Given the description of an element on the screen output the (x, y) to click on. 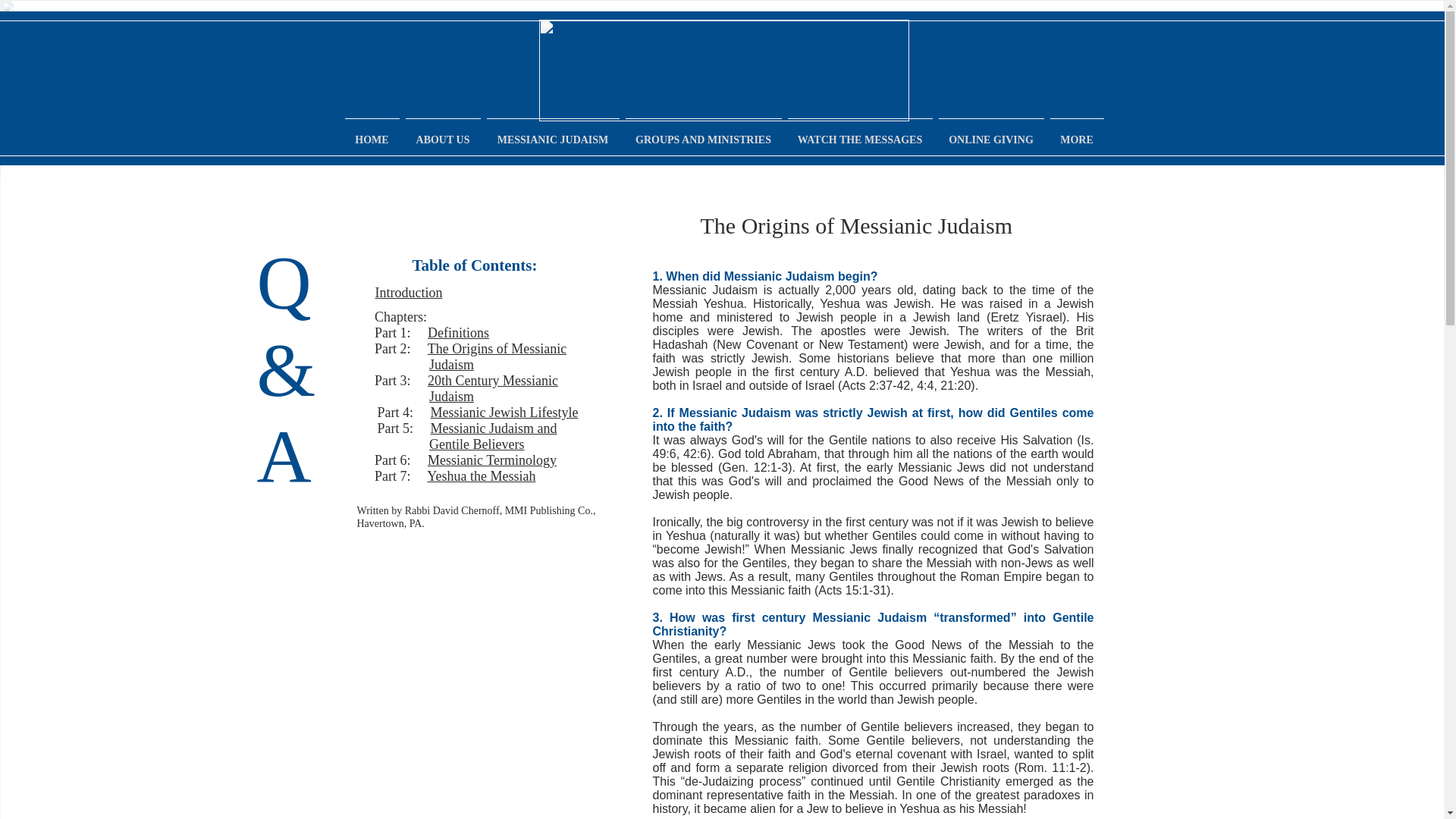
Definitions (458, 332)
       Part 3:      (389, 380)
       Part 7:      (388, 476)
MORE (1076, 132)
20th Century Messianic (492, 380)
ABOUT US (442, 132)
Introduction (408, 292)
The Origins of Messianic (497, 348)
GROUPS AND MINISTRIES (702, 132)
Yeshua the Messiah (480, 476)
Judaism (451, 364)
City-of-David-NEW-Logo-Draft.png (723, 70)
Messianic Jewish Lifestyle (504, 412)
MESSIANIC JUDAISM (553, 132)
Messianic Terminology (492, 459)
